Given the description of an element on the screen output the (x, y) to click on. 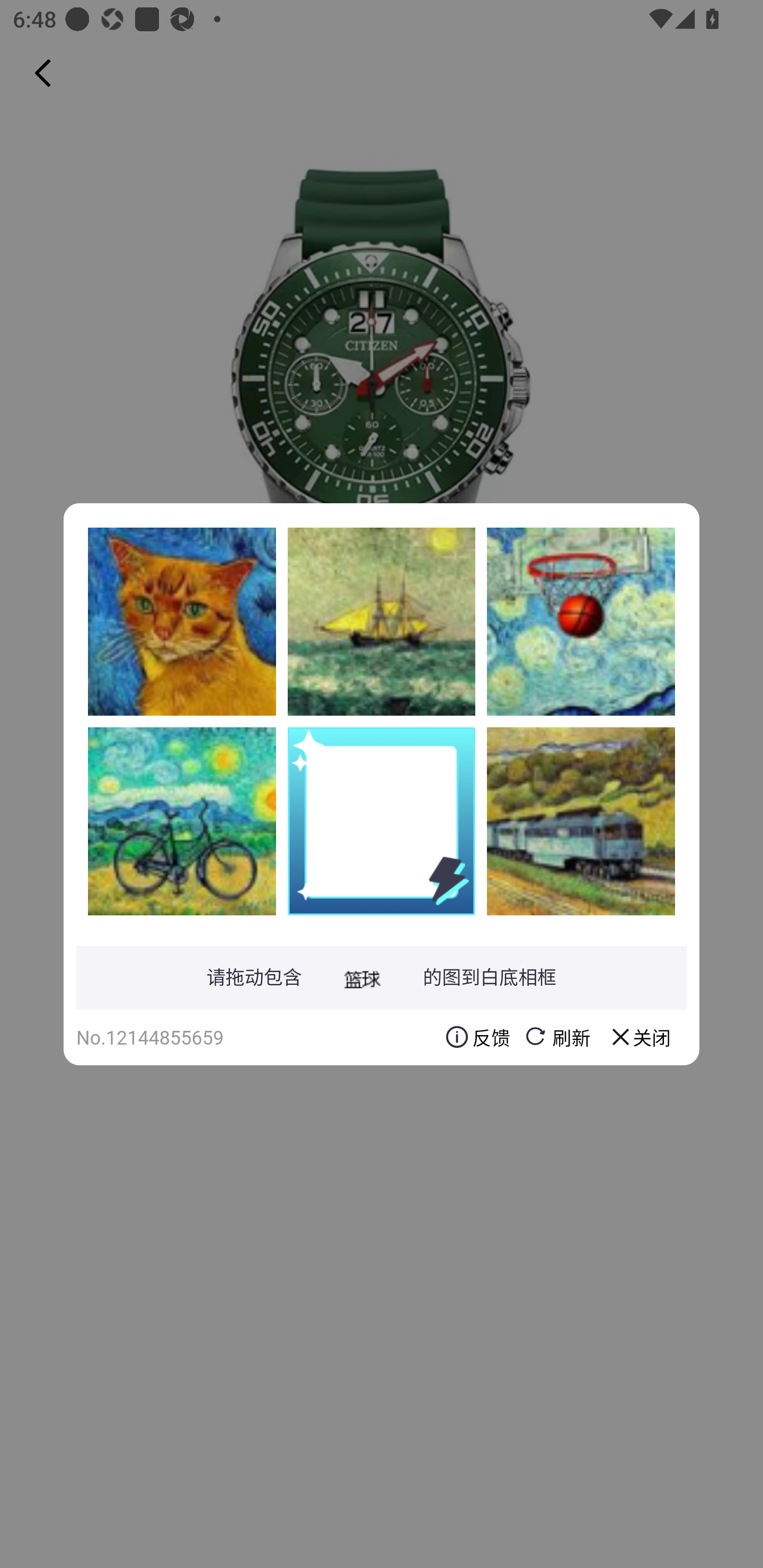
y+t+NZCVdg9 (181, 621)
r5FLQ3+iI16gyqC3wx0XYL891XsNB5Dobey9ANXM (381, 621)
ijM2C (580, 621)
ioLXcxHuhUL8F4u587yRuCc1XBlI5FJvDJ (181, 820)
